Given the description of an element on the screen output the (x, y) to click on. 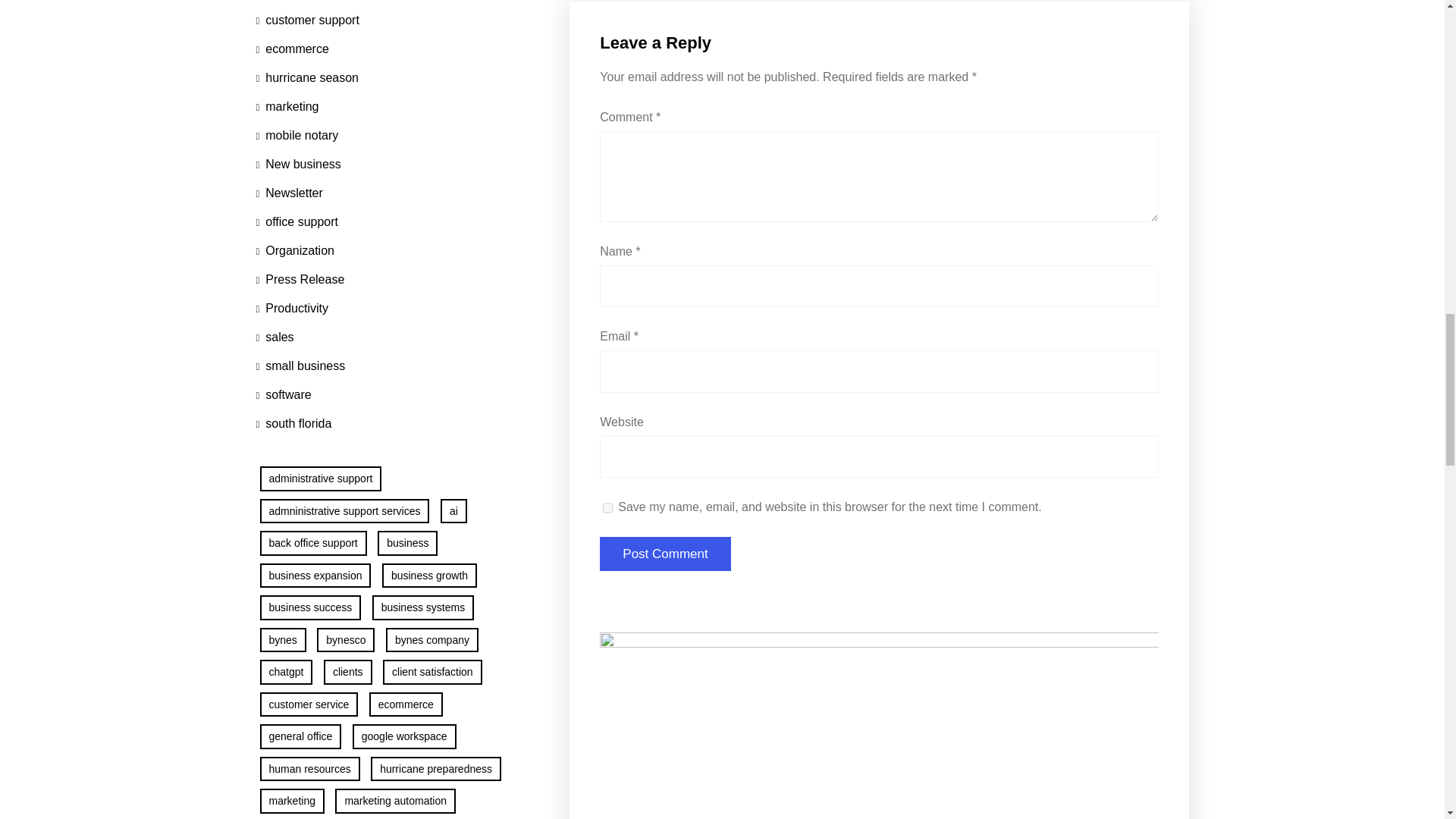
sales (275, 337)
Organization (295, 250)
small business (301, 366)
customer service (307, 2)
hurricane season (307, 77)
customer support (307, 20)
software (283, 394)
office support (297, 222)
Post Comment (664, 554)
Productivity (292, 308)
Press Release (300, 279)
marketing (287, 106)
New business (298, 164)
ecommerce (292, 49)
mobile notary (297, 135)
